Given the description of an element on the screen output the (x, y) to click on. 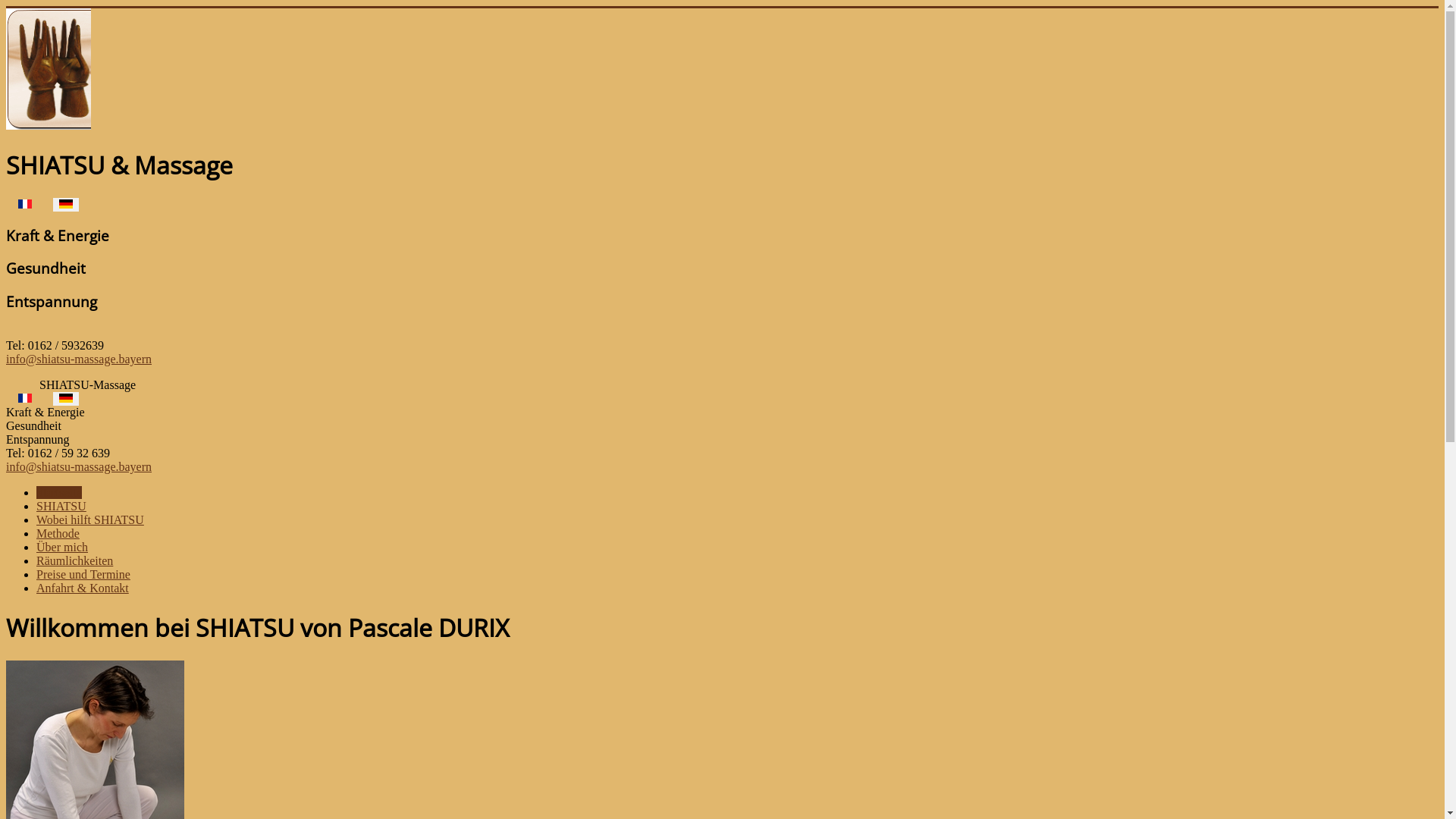
french (fr) Element type: hover (24, 397)
Anfahrt & Kontakt Element type: text (82, 587)
info@shiatsu-massage.bayern Element type: text (78, 466)
Preise und Termine Element type: text (83, 573)
german (de) Element type: hover (65, 203)
Startseite Element type: text (58, 492)
SHIATSU Element type: text (61, 505)
Methode Element type: text (57, 533)
info@shiatsu-massage.bayern Element type: text (78, 358)
french (fr) Element type: hover (24, 203)
Wobei hilft SHIATSU Element type: text (90, 519)
german (de) Element type: hover (65, 397)
